Given the description of an element on the screen output the (x, y) to click on. 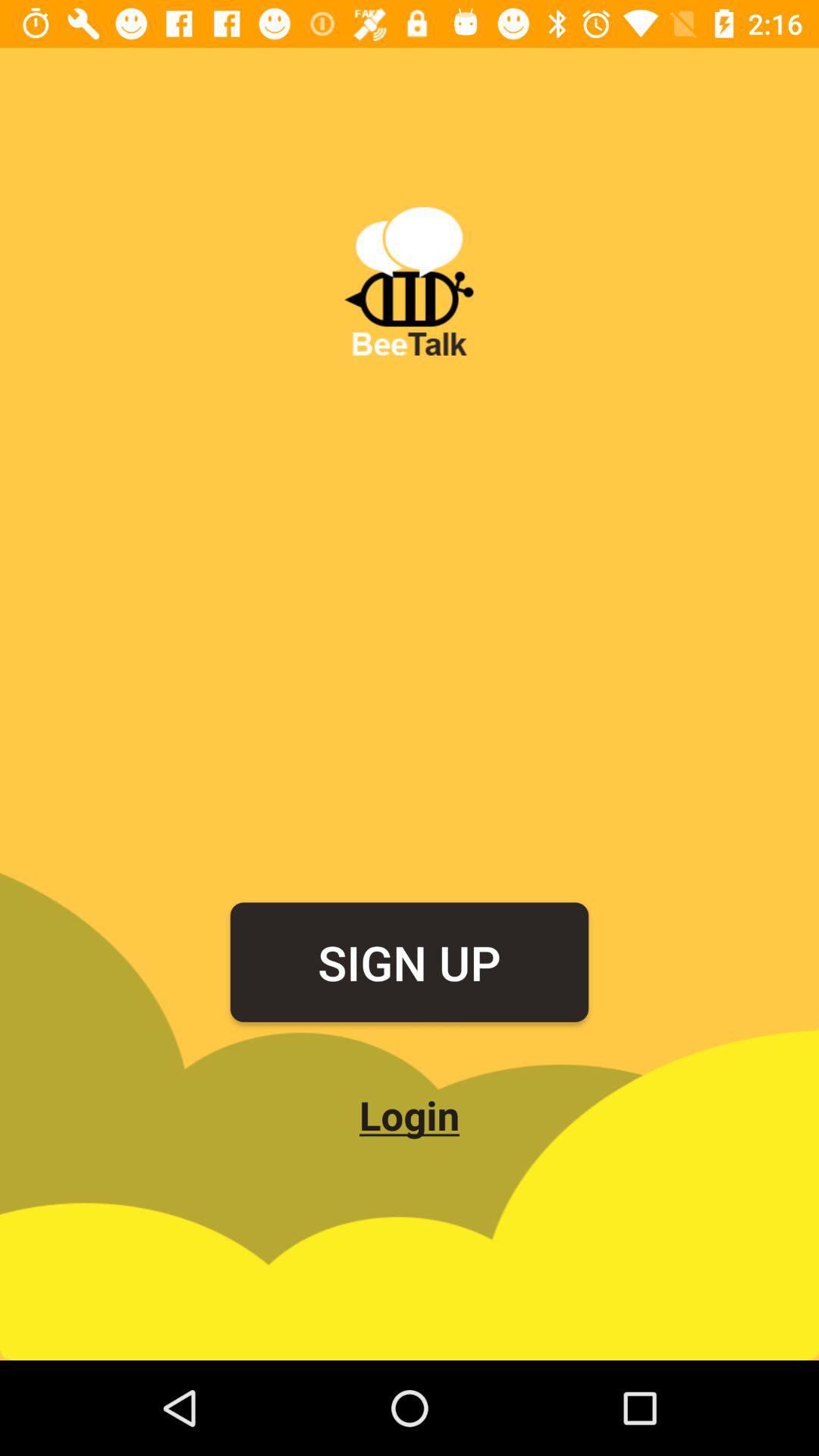
turn off sign up icon (409, 962)
